Given the description of an element on the screen output the (x, y) to click on. 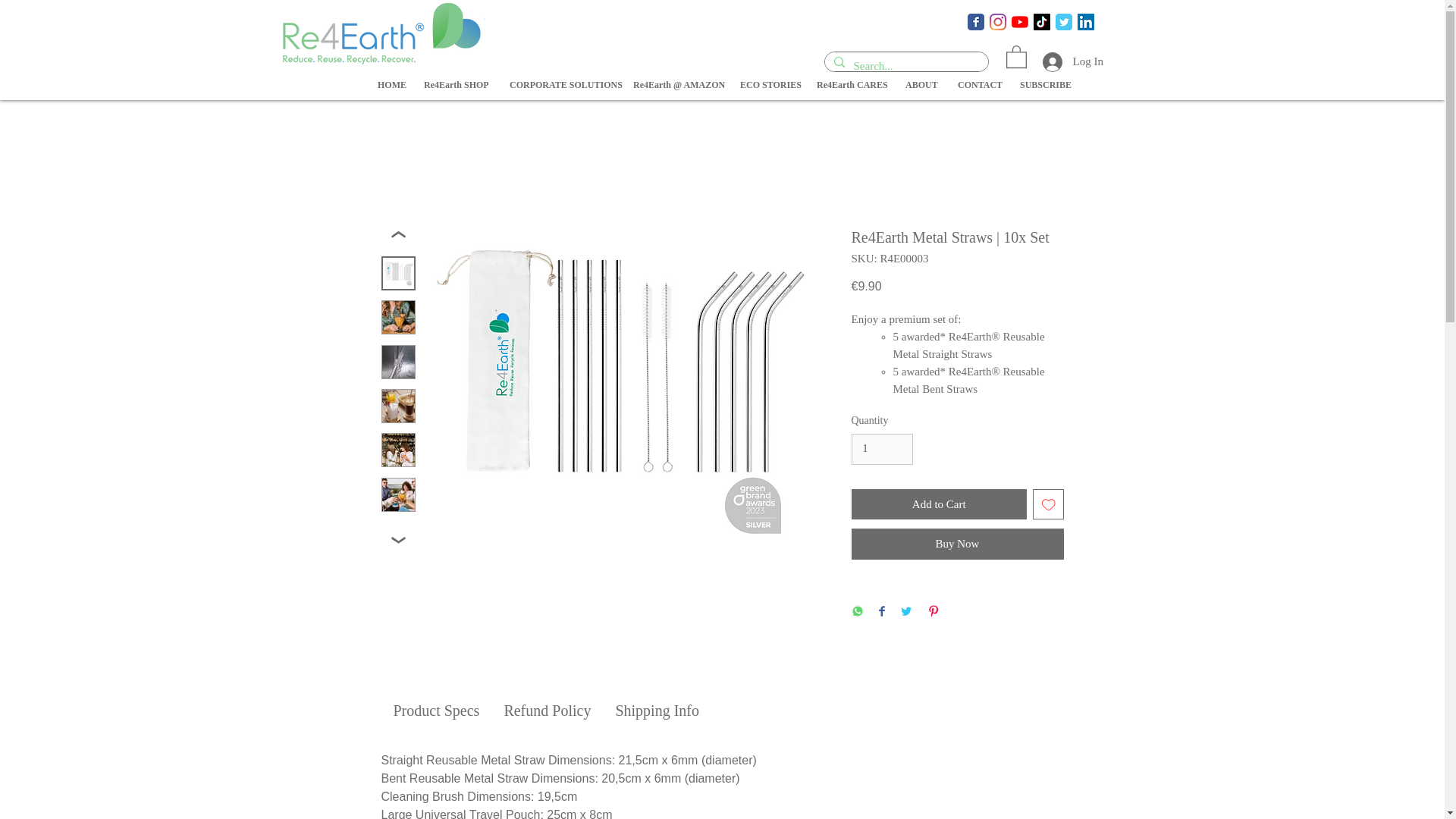
Log In (1058, 61)
Re4Earth SHOP (454, 84)
Buy Now (956, 543)
Re4Earth CARES (849, 84)
CONTACT (977, 84)
ABOUT (919, 84)
Use right and left arrows to navigate between tabs (657, 710)
CORPORATE SOLUTIONS (559, 84)
Use right and left arrows to navigate between tabs (435, 710)
SUBSCRIBE (1043, 84)
